Given the description of an element on the screen output the (x, y) to click on. 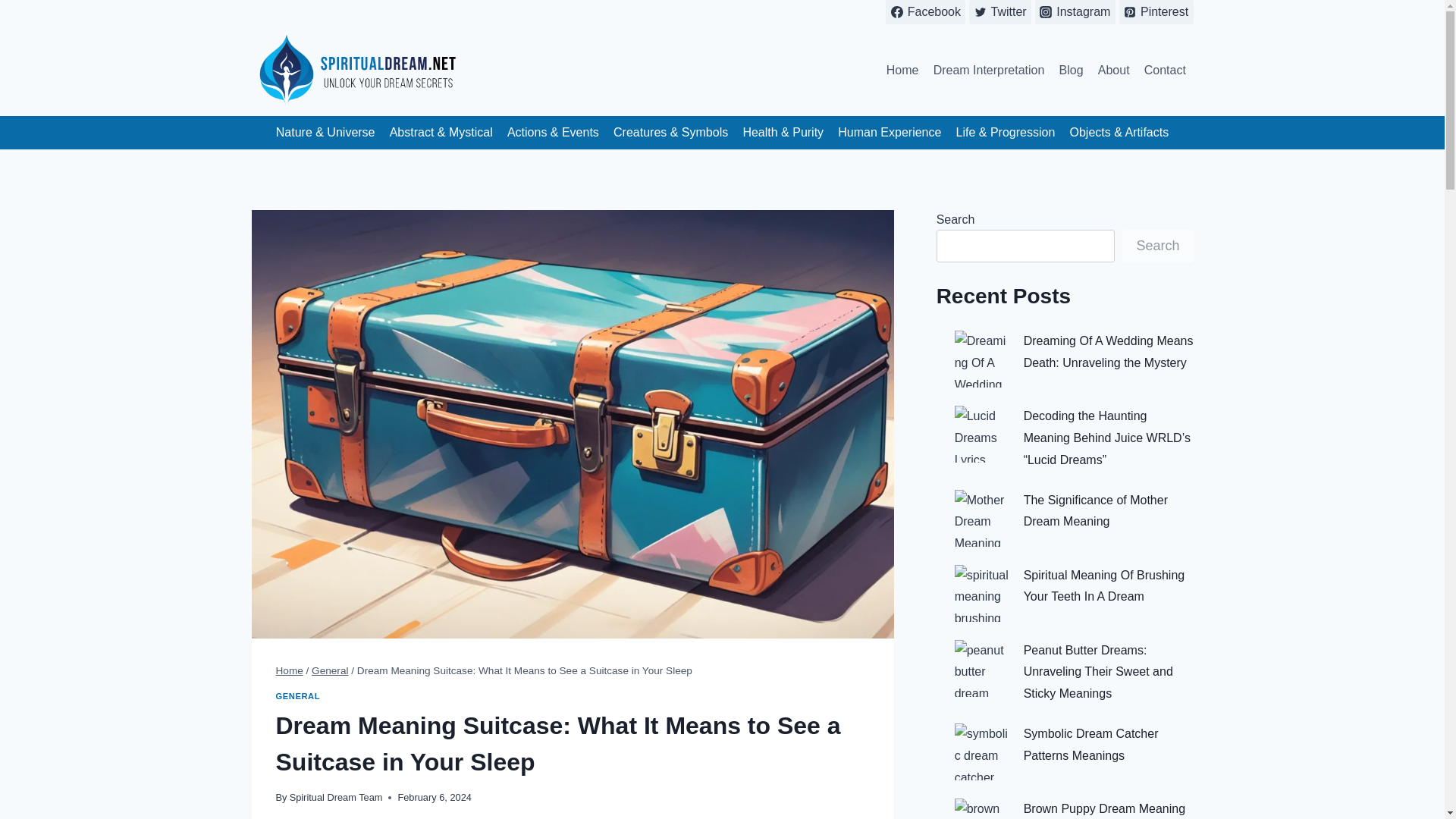
Facebook (925, 12)
Instagram (1075, 12)
Pinterest (1156, 12)
Contact (1164, 69)
Dream Interpretation (988, 69)
Spiritual Dream Team (335, 797)
About (1113, 69)
GENERAL (298, 696)
Twitter (999, 12)
Blog (1070, 69)
